Given the description of an element on the screen output the (x, y) to click on. 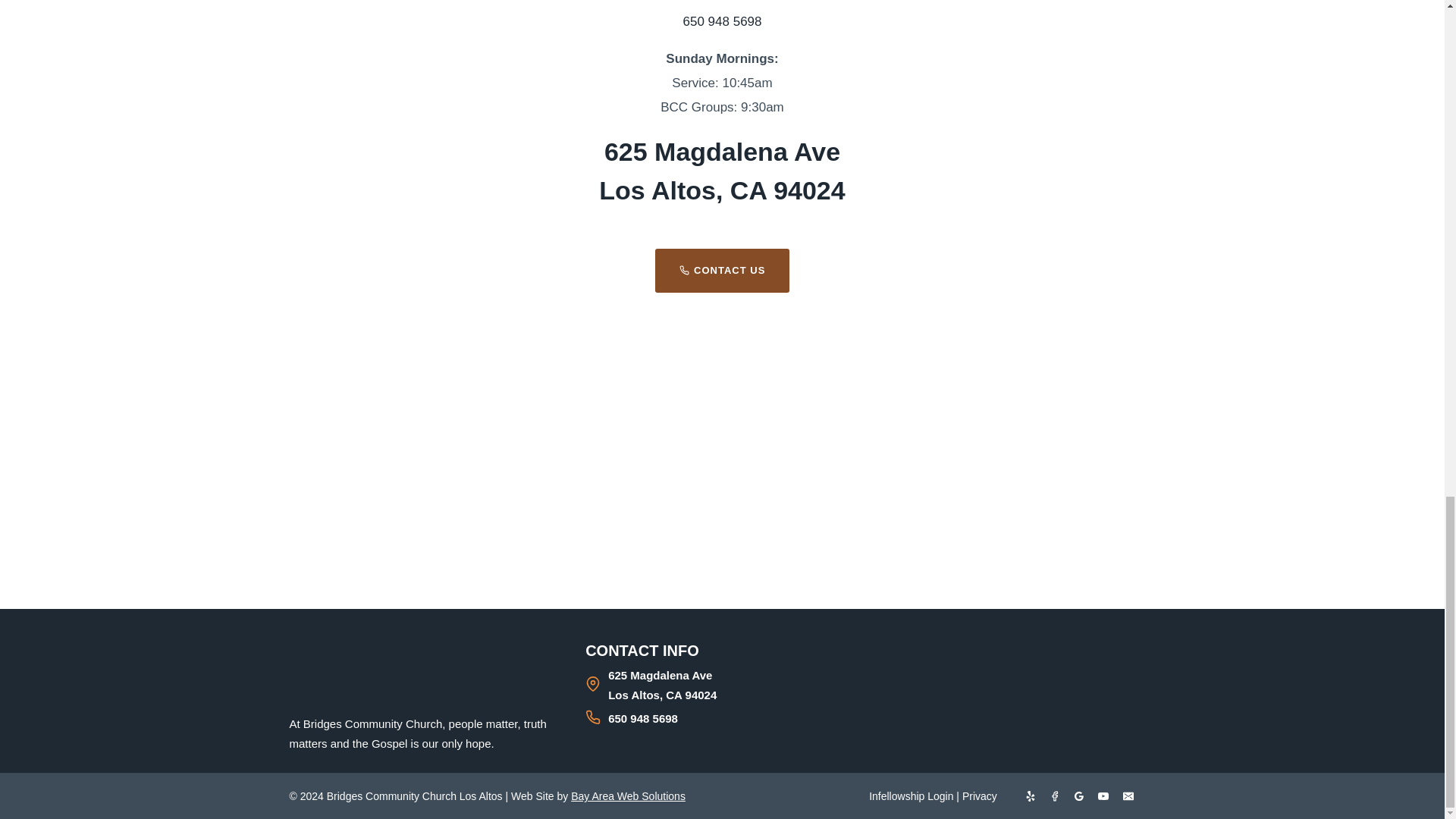
650 948 5698 (721, 21)
CONTACT US (722, 270)
650 948 5698 (722, 716)
Los Altos Web Design (627, 796)
